Given the description of an element on the screen output the (x, y) to click on. 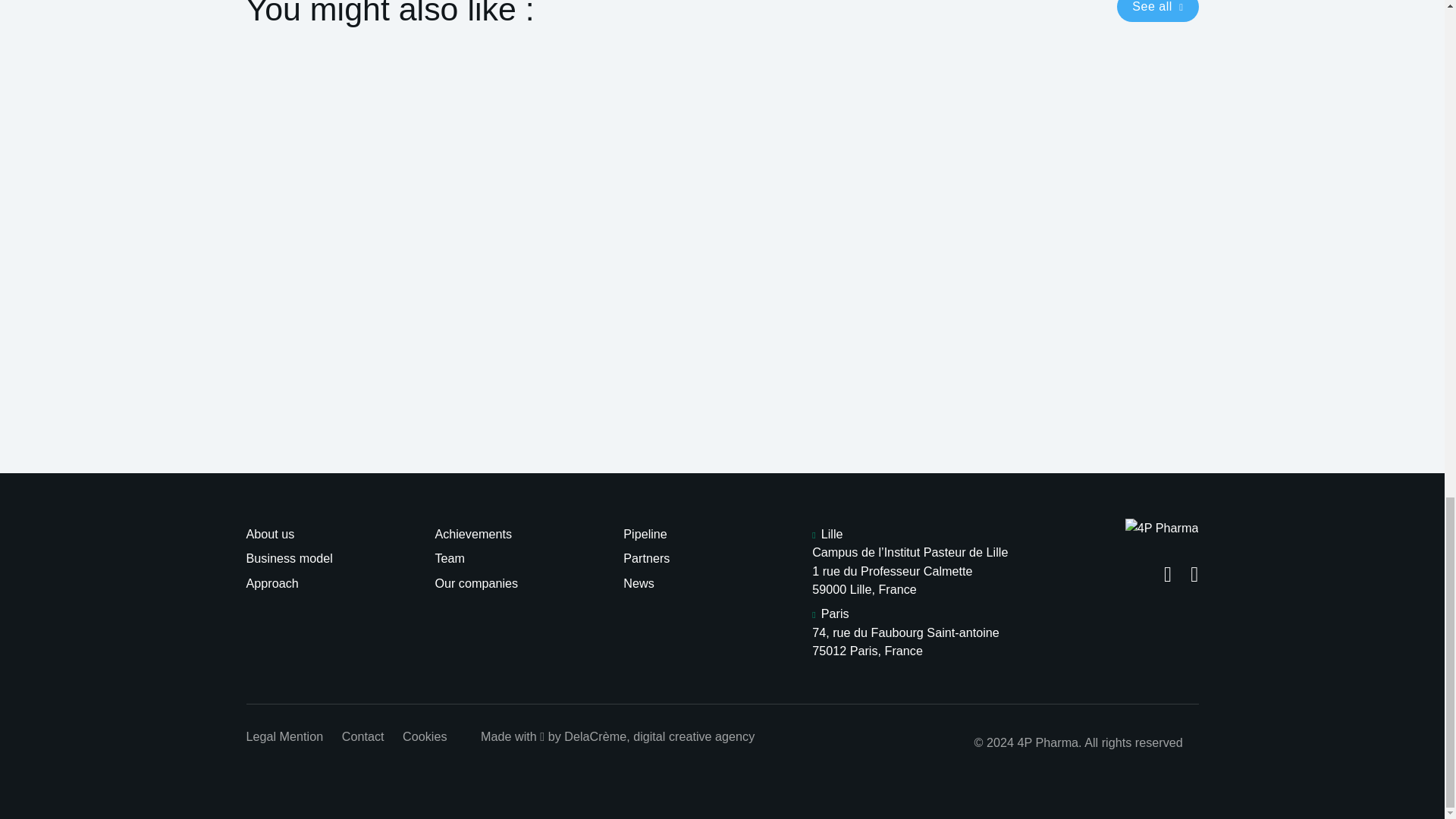
See all (1157, 11)
Approach (272, 582)
About us (270, 533)
Business model (288, 558)
